Given the description of an element on the screen output the (x, y) to click on. 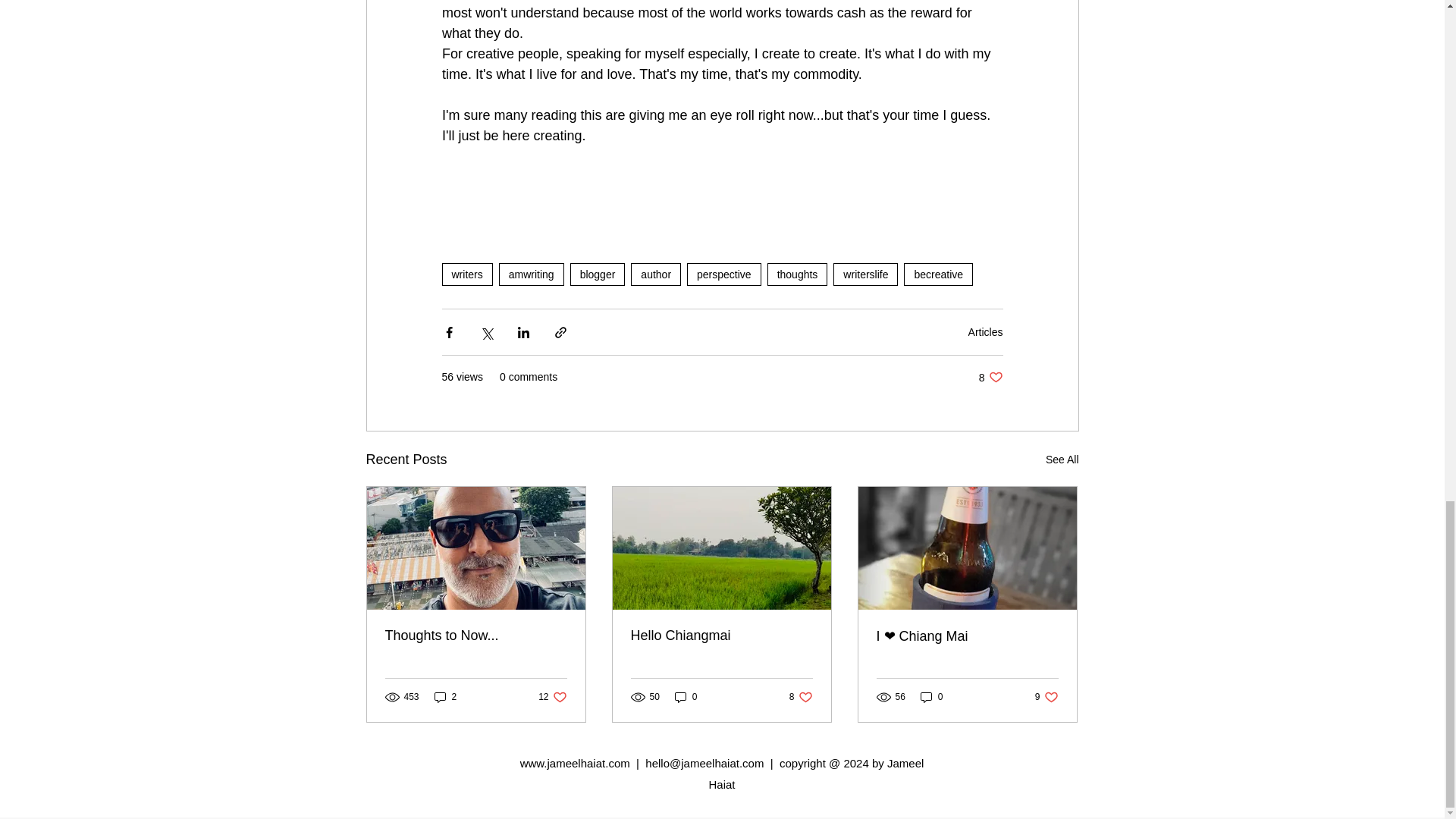
See All (1061, 459)
thoughts (797, 273)
writerslife (865, 273)
blogger (598, 273)
Hello Chiangmai (721, 635)
amwriting (531, 273)
writers (466, 273)
Articles (985, 331)
Thoughts to Now... (476, 635)
perspective (724, 273)
becreative (552, 697)
0 (938, 273)
author (685, 697)
2 (655, 273)
